Given the description of an element on the screen output the (x, y) to click on. 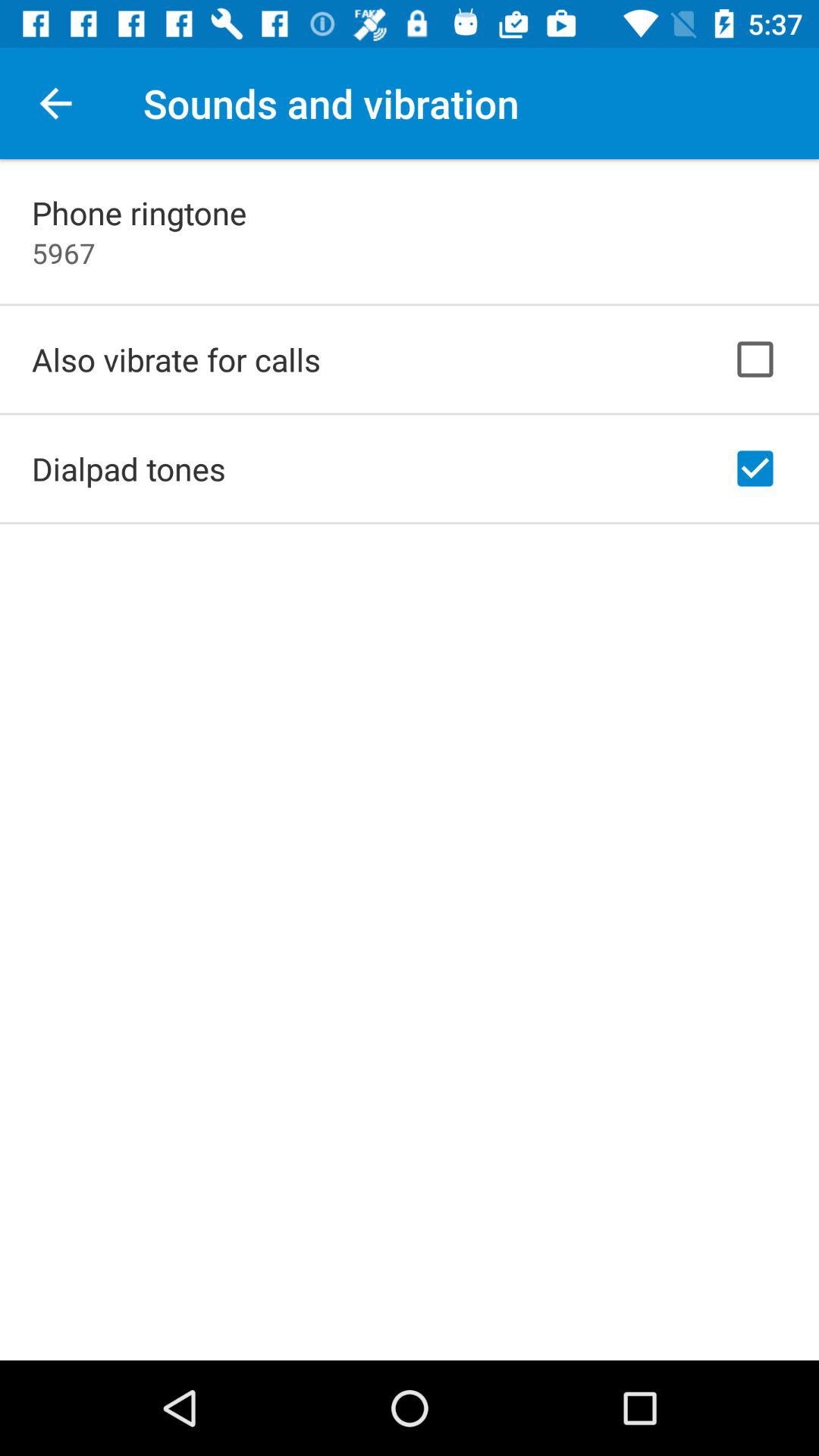
turn on icon below also vibrate for app (128, 468)
